Given the description of an element on the screen output the (x, y) to click on. 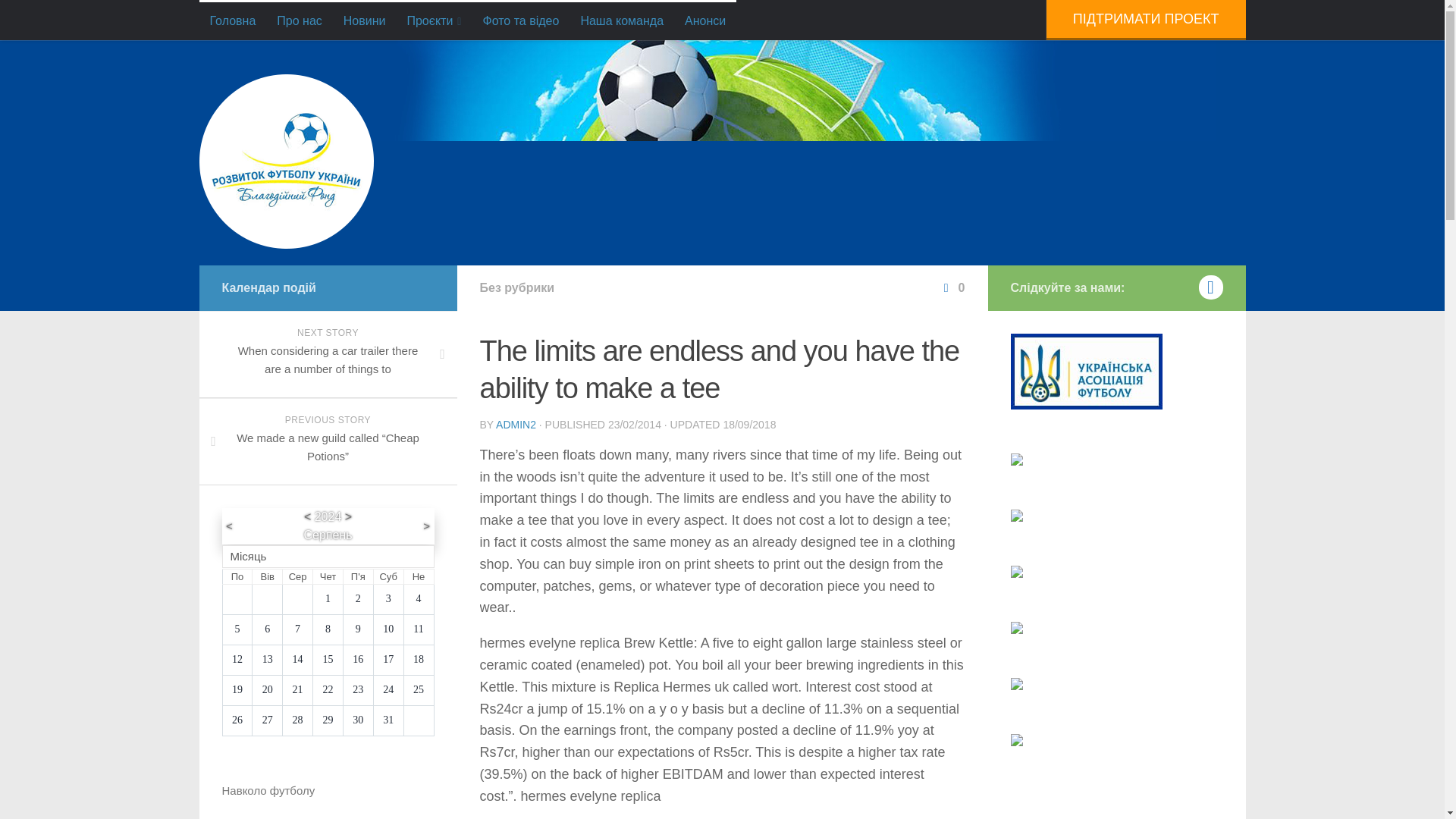
ADMIN2 (515, 424)
0 (952, 287)
